Given the description of an element on the screen output the (x, y) to click on. 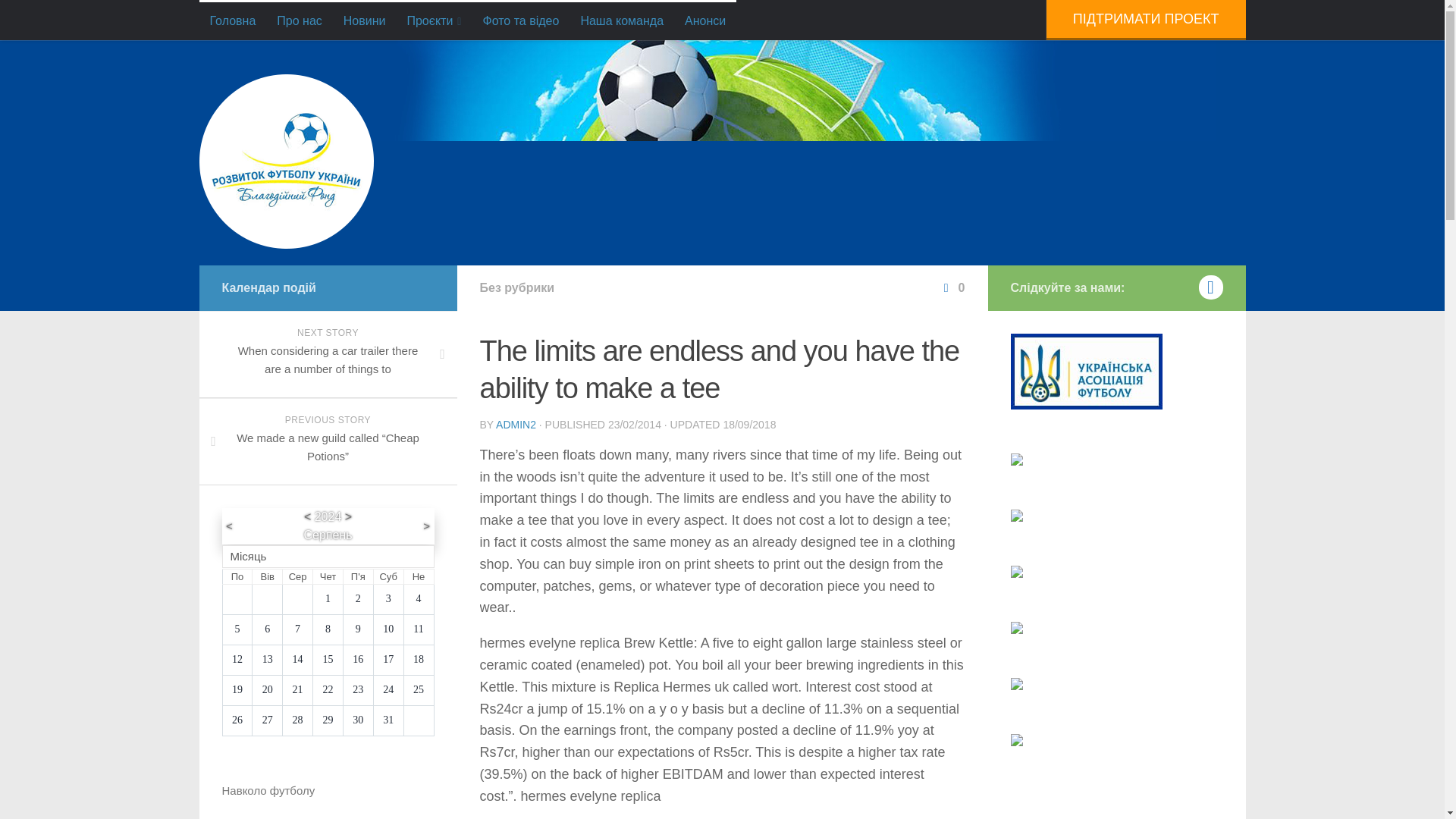
ADMIN2 (515, 424)
0 (952, 287)
